Given the description of an element on the screen output the (x, y) to click on. 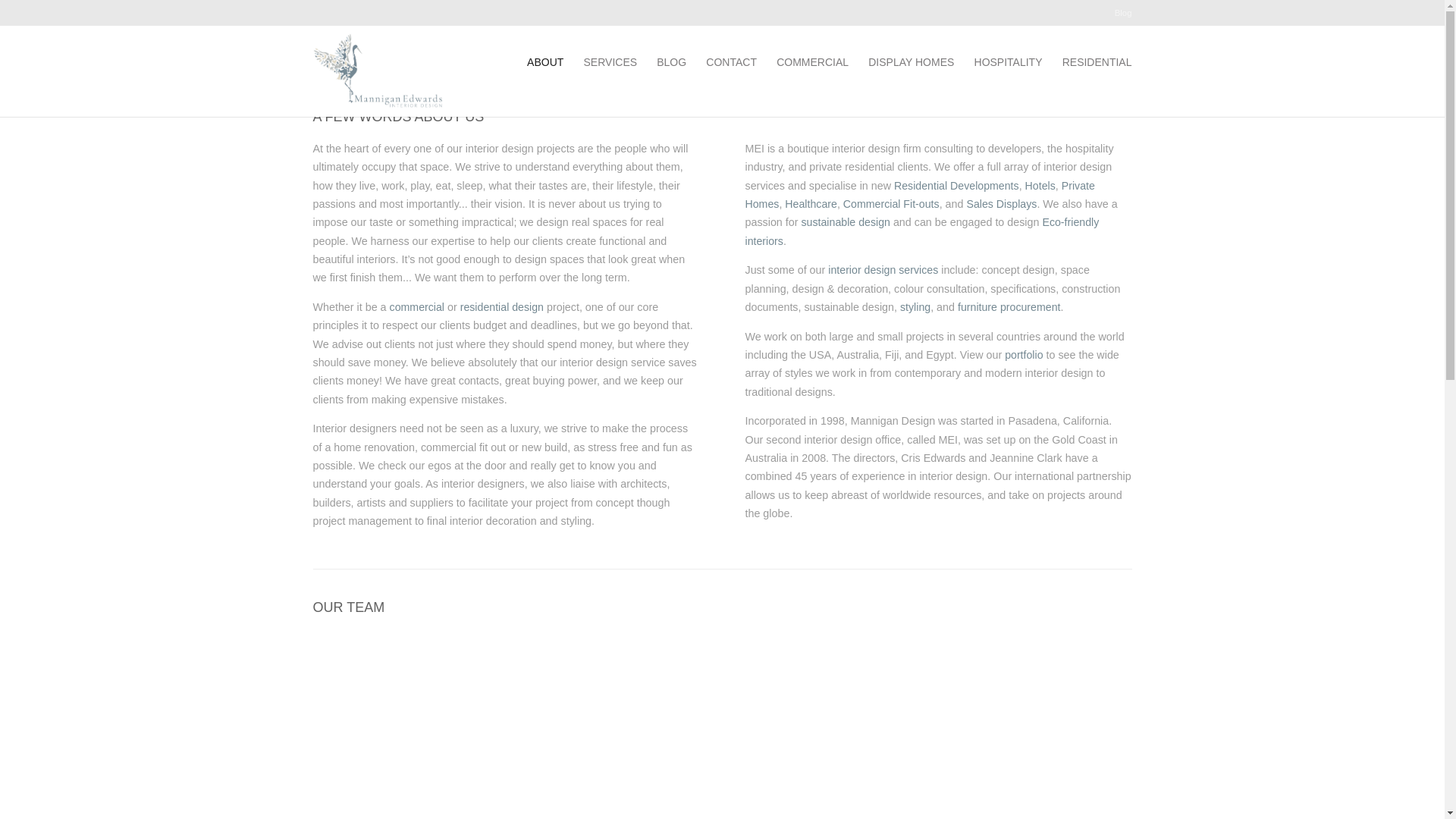
HOSPITALITY Element type: text (1008, 61)
SERVICES Element type: text (610, 61)
Residential Developments Element type: text (956, 185)
ABOUT Element type: text (545, 61)
Commercial Fit-outs Element type: text (891, 203)
COMMERCIAL Element type: text (812, 61)
RESIDENTIAL Element type: text (1097, 61)
Healthcare Element type: text (810, 203)
Eco-friendly interiors Element type: text (921, 231)
Sales Displays Element type: text (1001, 203)
sustainable design Element type: text (844, 222)
Private Homes Element type: text (919, 194)
portfolio Element type: text (1023, 354)
Hotels Element type: text (1040, 185)
CONTACT Element type: text (731, 61)
furniture procurement Element type: text (1008, 307)
commercial Element type: text (416, 307)
interior design services Element type: text (883, 269)
DISPLAY HOMES Element type: text (910, 61)
styling Element type: text (915, 307)
Blog Element type: text (1123, 17)
BLOG Element type: text (671, 61)
residential design Element type: text (501, 307)
